Given the description of an element on the screen output the (x, y) to click on. 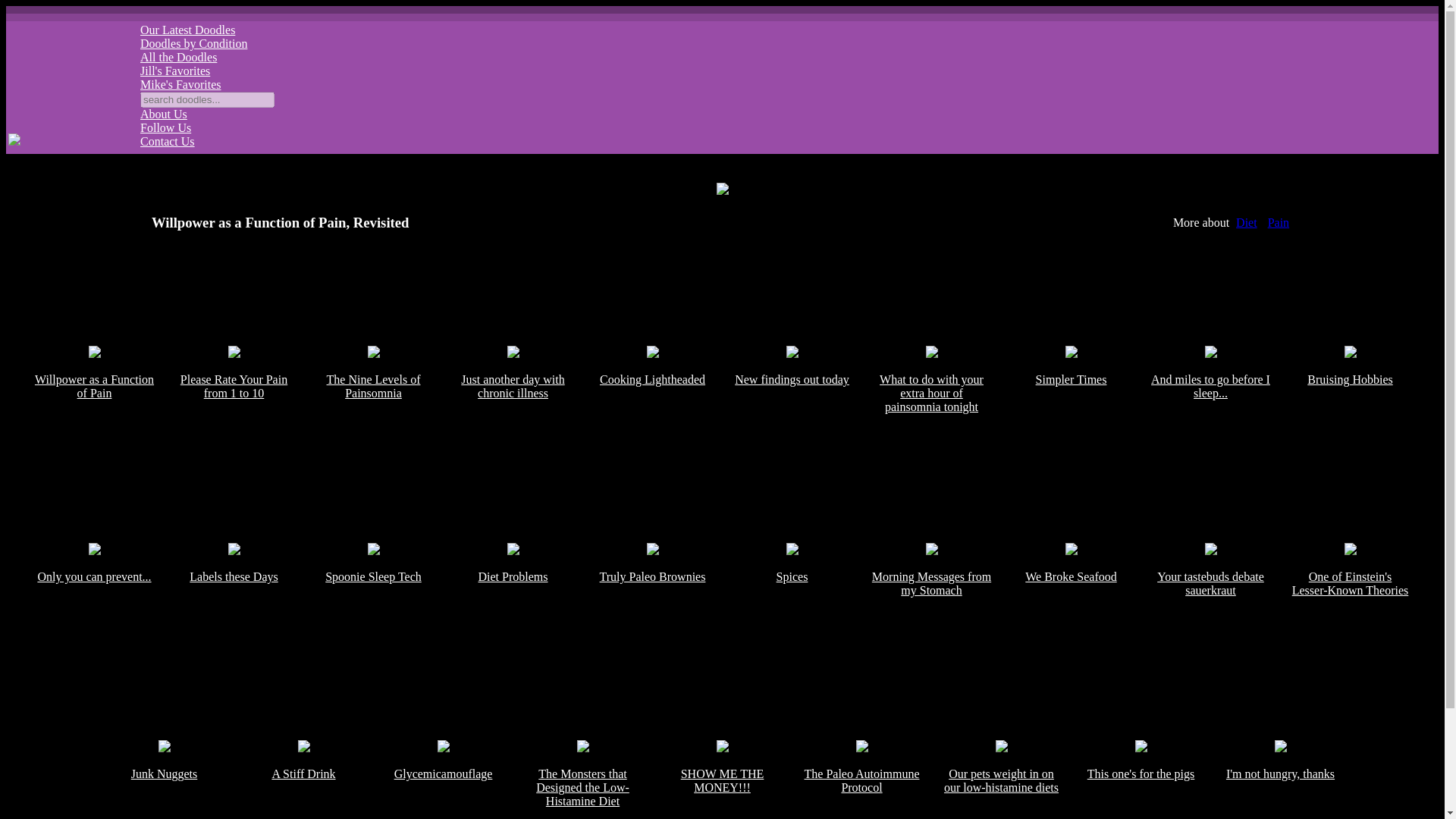
The Nine Levels of Painsomnia (373, 436)
Pain (1278, 222)
Our pets weight in on our low-histamine diets (1000, 779)
A Stiff Drink (303, 779)
Labels these Days (233, 633)
Truly Paleo Brownies (652, 633)
Please Rate Your Pain from 1 to 10 (233, 436)
One of Einstein's Lesser-Known Theories (1349, 633)
Only you can prevent... (93, 633)
Bruising Hobbies (1349, 436)
We Broke Seafood (1070, 633)
Spoonie Sleep Tech (373, 633)
The Paleo Autoimmune Protocol (860, 779)
Glycemicamouflage (442, 779)
SHOW ME THE MONEY!!! (722, 779)
